Given the description of an element on the screen output the (x, y) to click on. 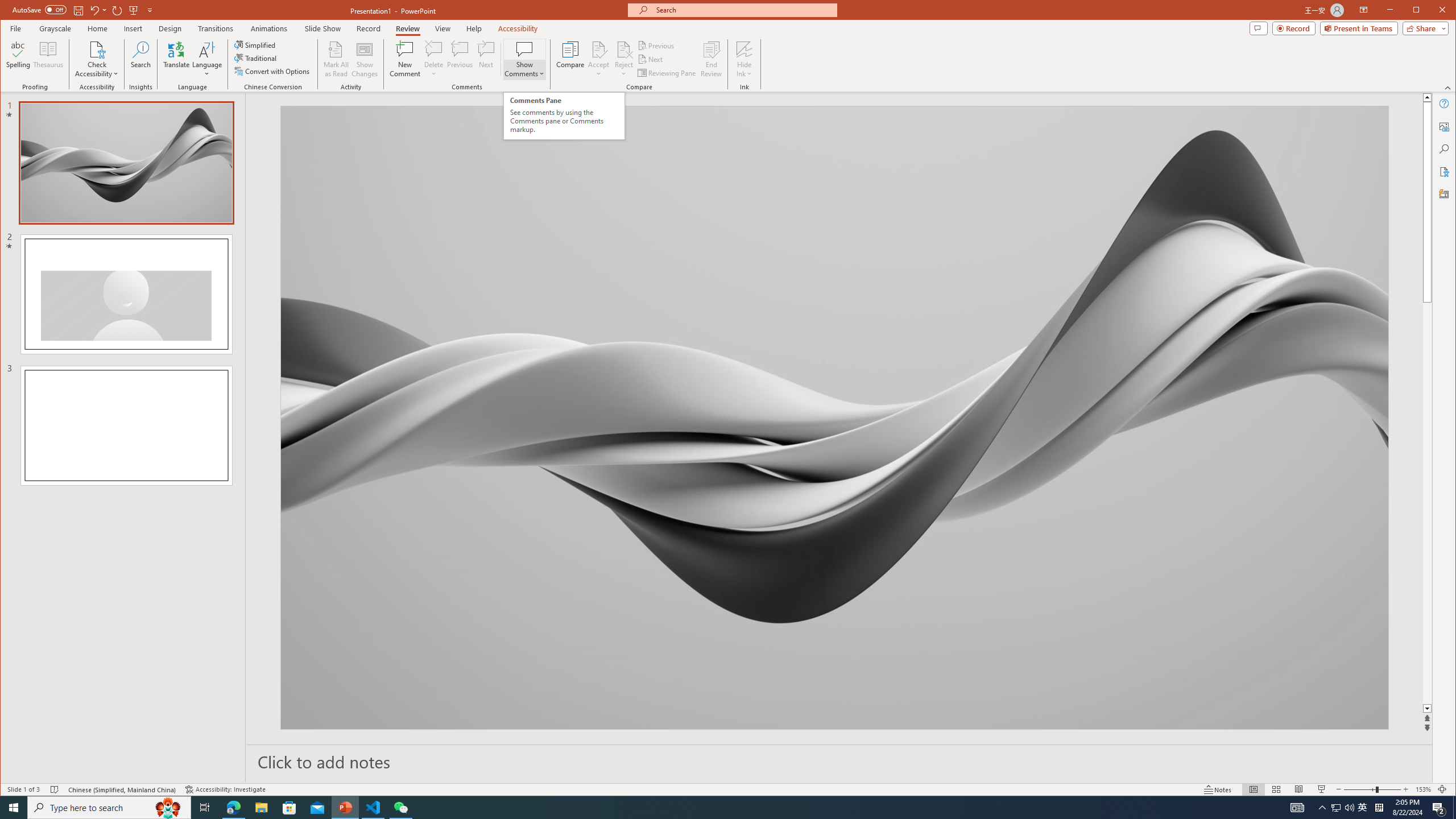
AutomationID: 4105 (1297, 807)
PowerPoint - 1 running window (345, 807)
Search (140, 59)
